Given the description of an element on the screen output the (x, y) to click on. 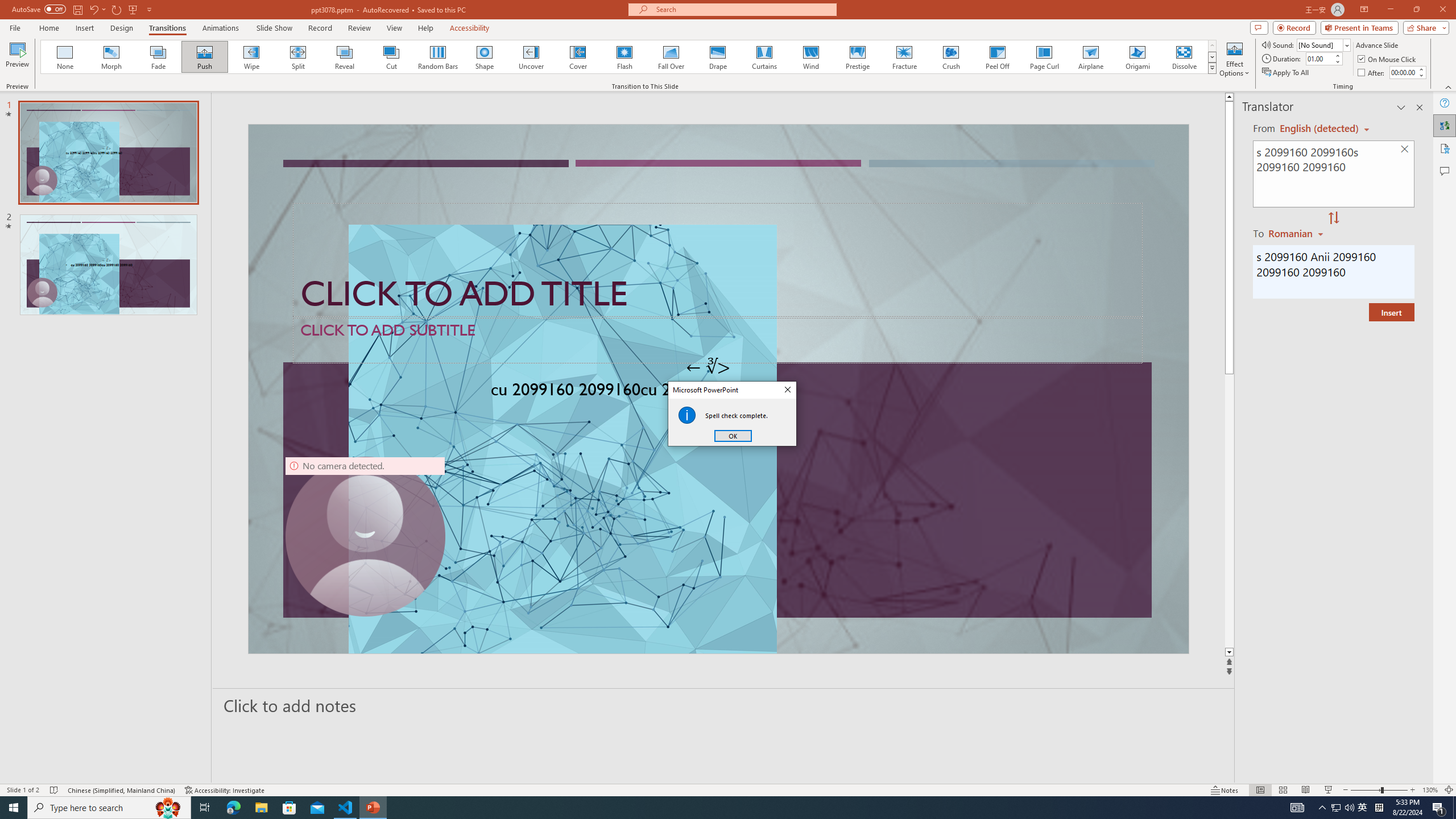
Shape (484, 56)
Reveal (344, 56)
Effect Options (1234, 58)
Prestige (857, 56)
Czech (detected) (1319, 128)
